Given the description of an element on the screen output the (x, y) to click on. 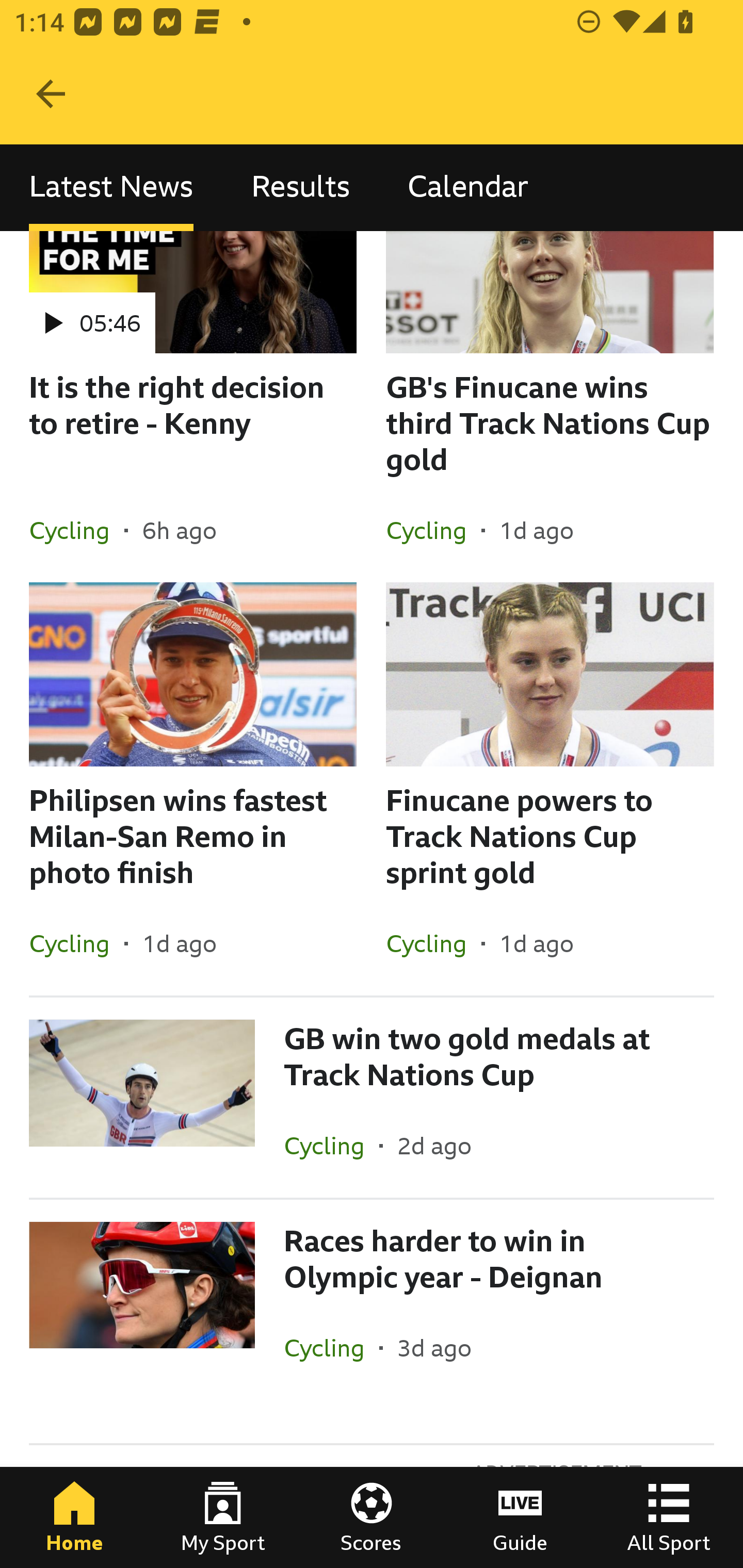
Navigate up (50, 93)
Latest News, selected Latest News (111, 187)
Results (300, 187)
Calendar (467, 187)
My Sport (222, 1517)
Scores (371, 1517)
Guide (519, 1517)
All Sport (668, 1517)
